Given the description of an element on the screen output the (x, y) to click on. 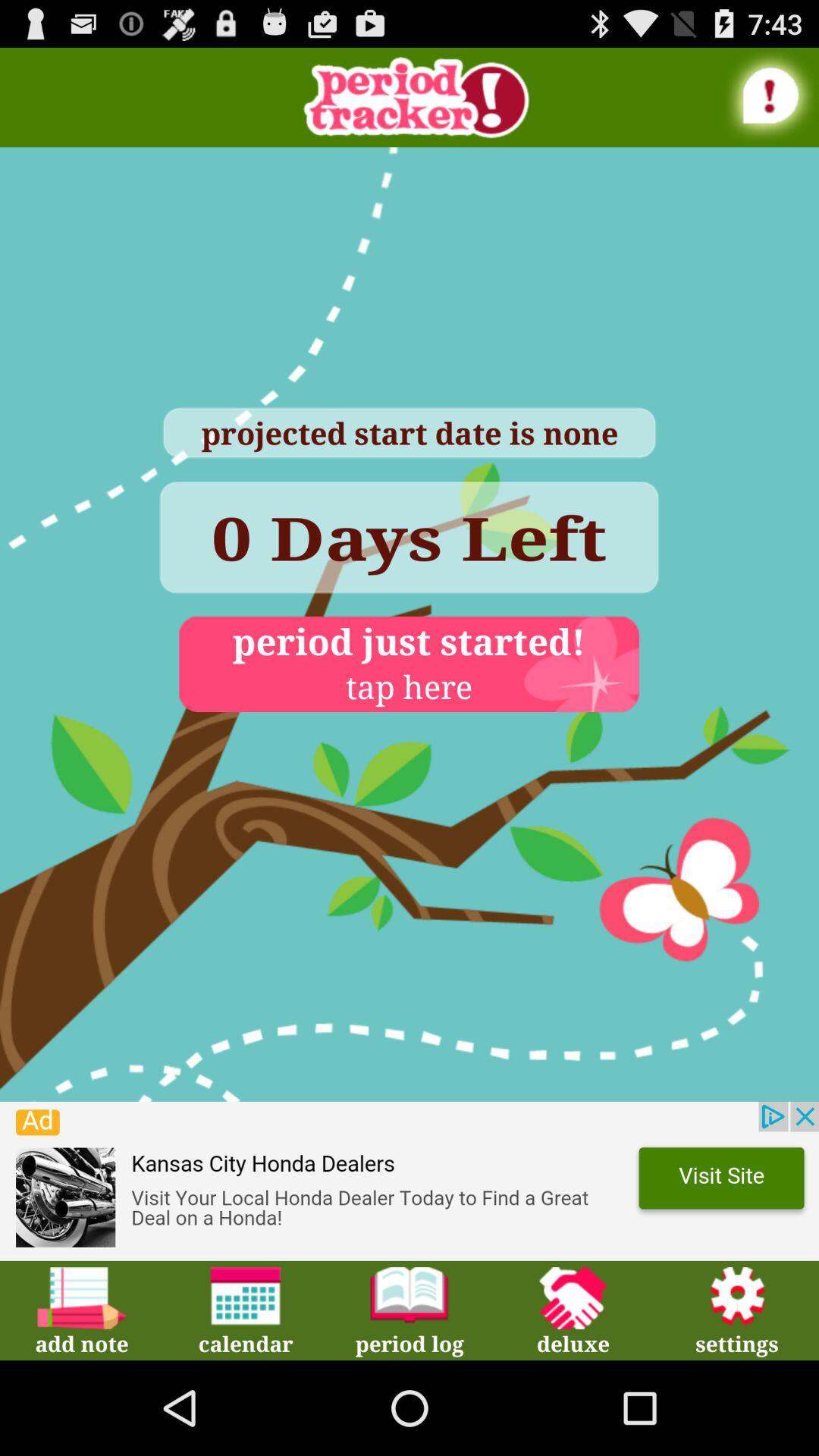
advertisement (409, 1180)
